Given the description of an element on the screen output the (x, y) to click on. 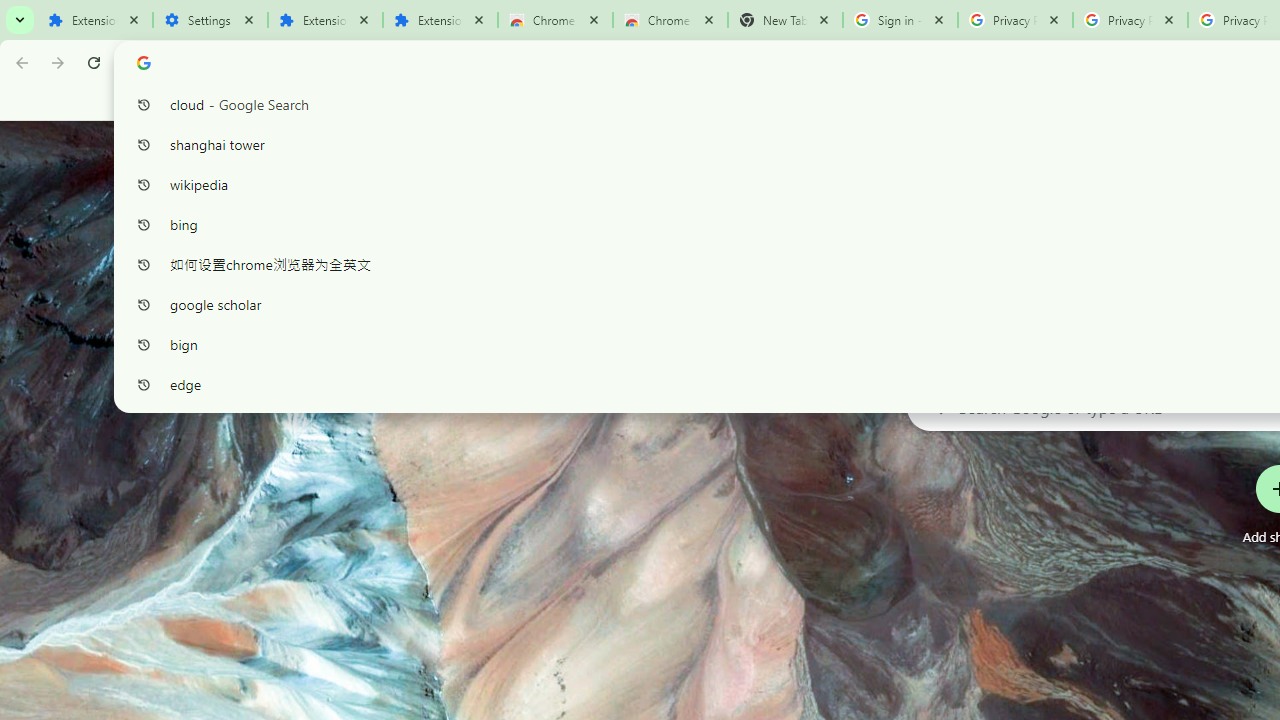
Extensions (95, 20)
Extensions (439, 20)
Chrome Web Store (555, 20)
New Tab (785, 20)
Chrome Web Store - Themes (670, 20)
